Given the description of an element on the screen output the (x, y) to click on. 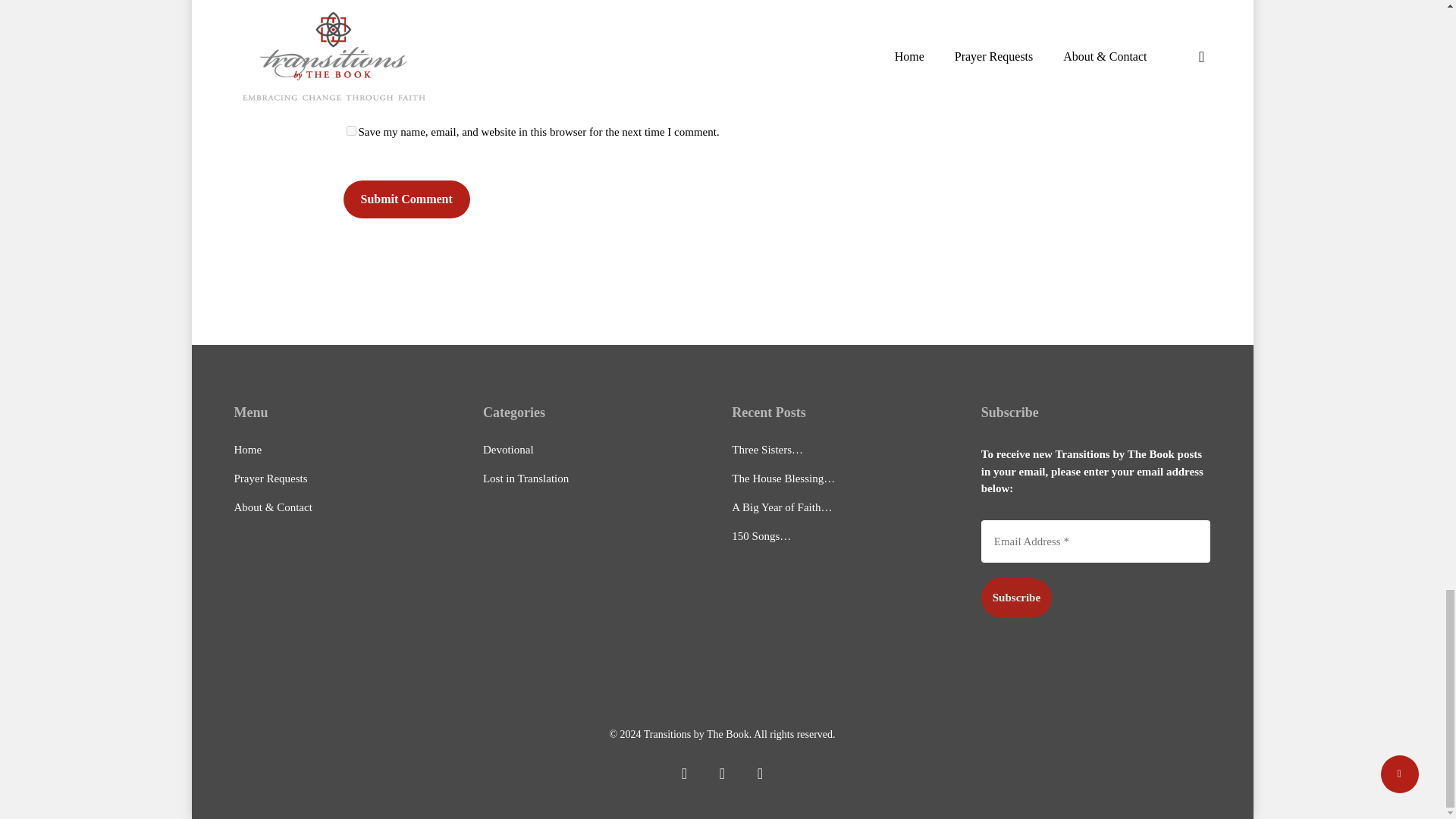
Email Address (1096, 541)
Submit Comment (405, 199)
Submit Comment (405, 199)
yes (350, 130)
Subscribe (1016, 598)
